Given the description of an element on the screen output the (x, y) to click on. 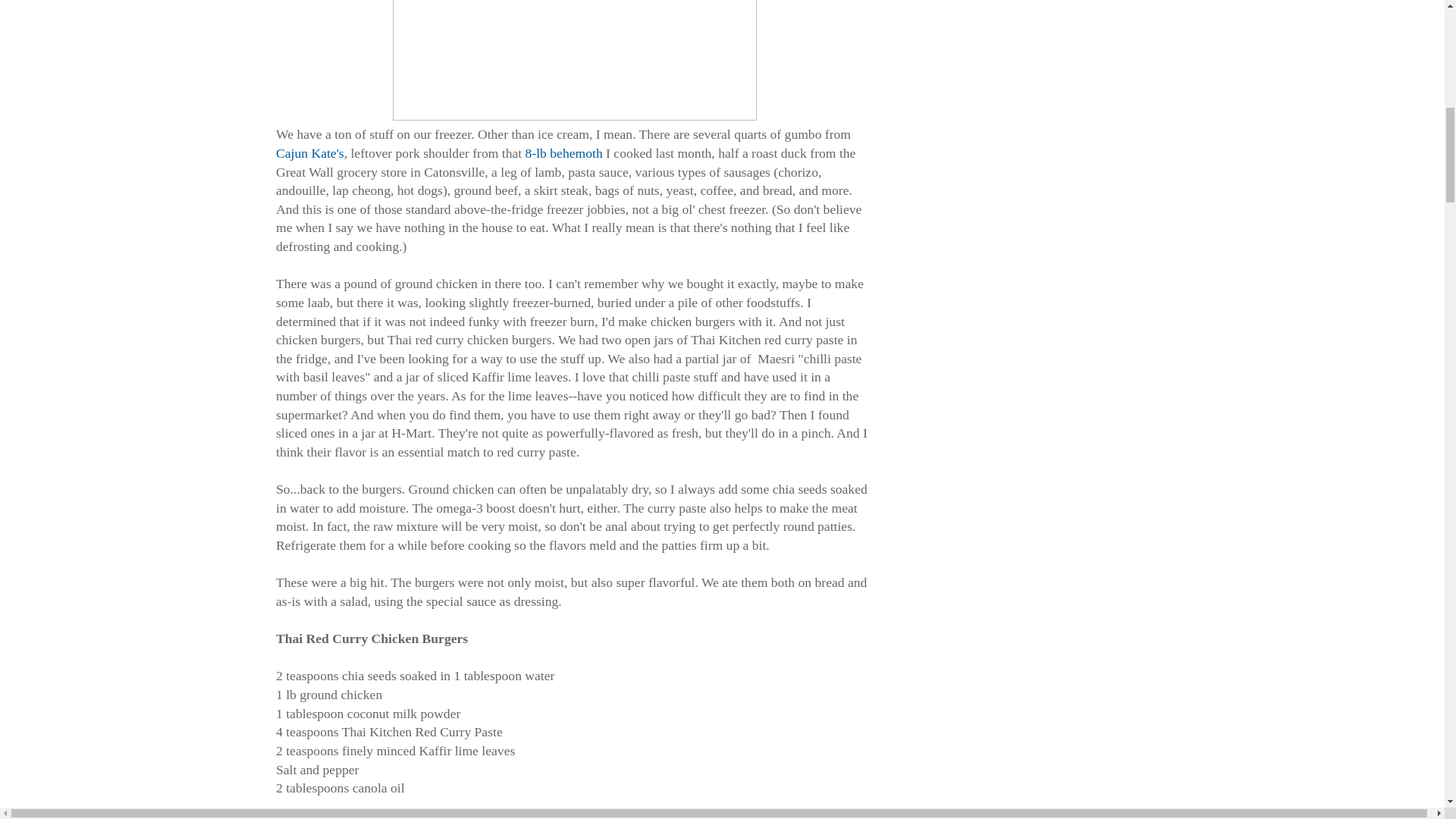
8-lb behemoth (563, 152)
Cajun Kate's (309, 152)
